Given the description of an element on the screen output the (x, y) to click on. 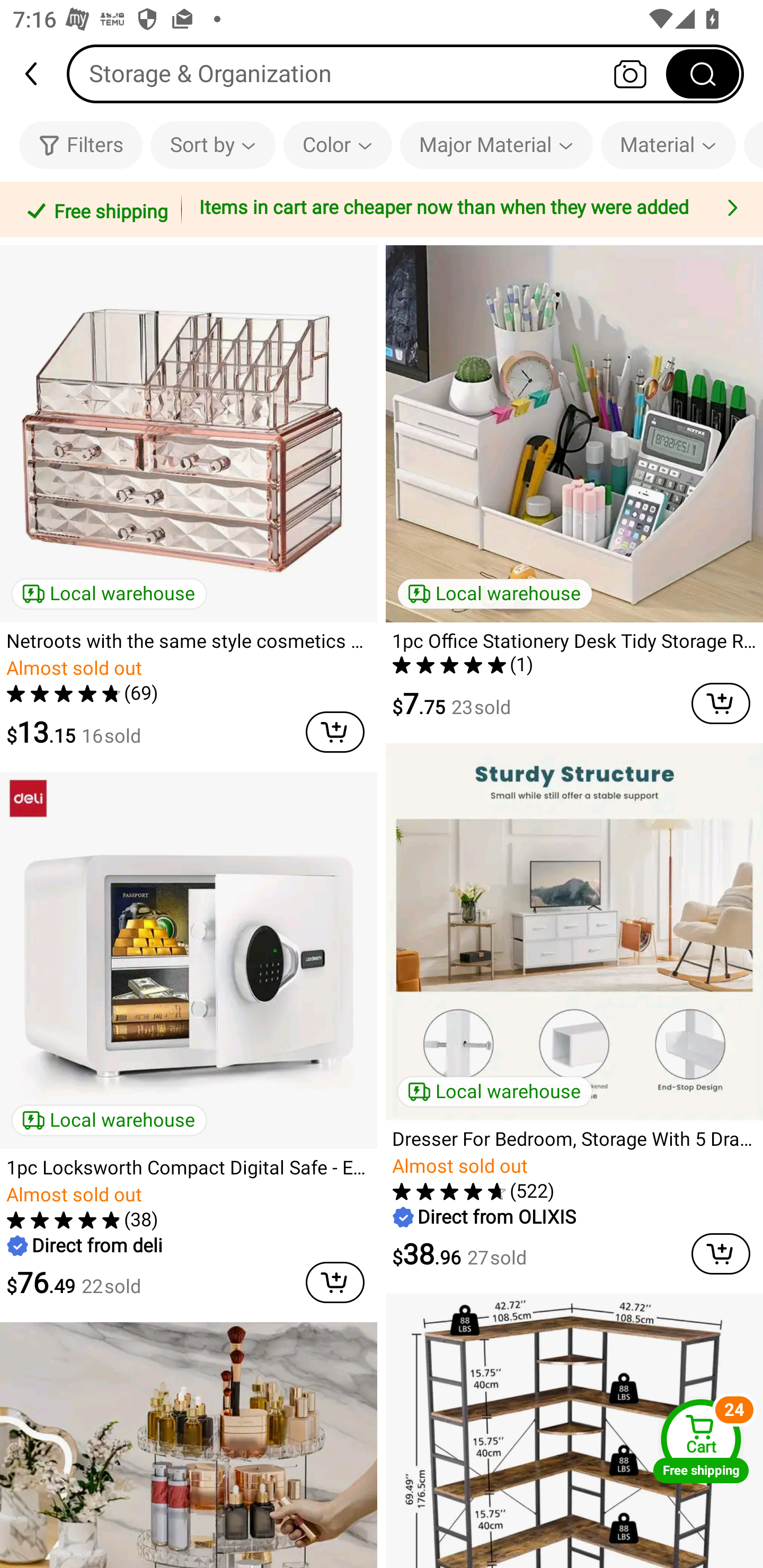
back (39, 73)
Storage & Organization (405, 73)
Filters (80, 144)
Sort by (212, 144)
Color (337, 144)
Major Material (495, 144)
Material (668, 144)
 Free shipping (93, 208)
Cart Free shipping Cart (701, 1440)
